Given the description of an element on the screen output the (x, y) to click on. 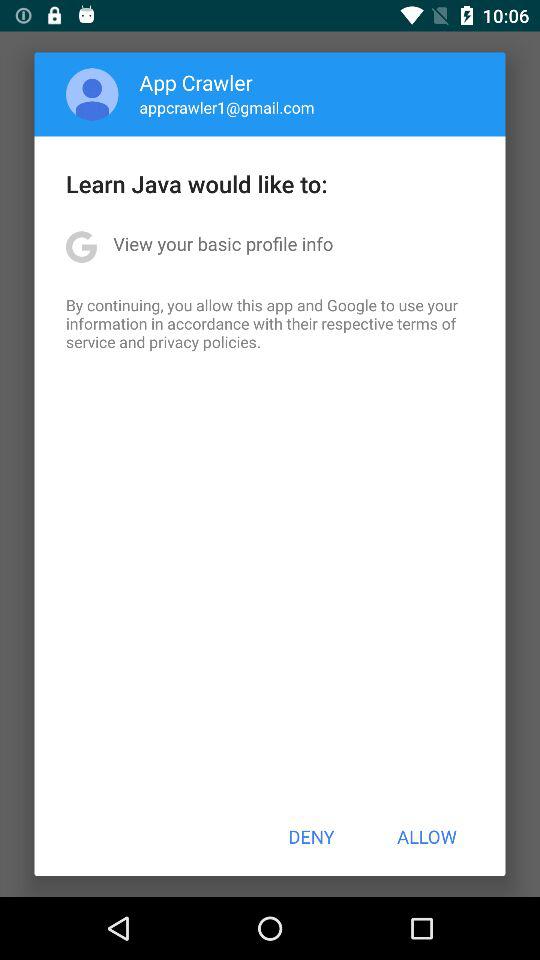
press item next to the allow (311, 836)
